Given the description of an element on the screen output the (x, y) to click on. 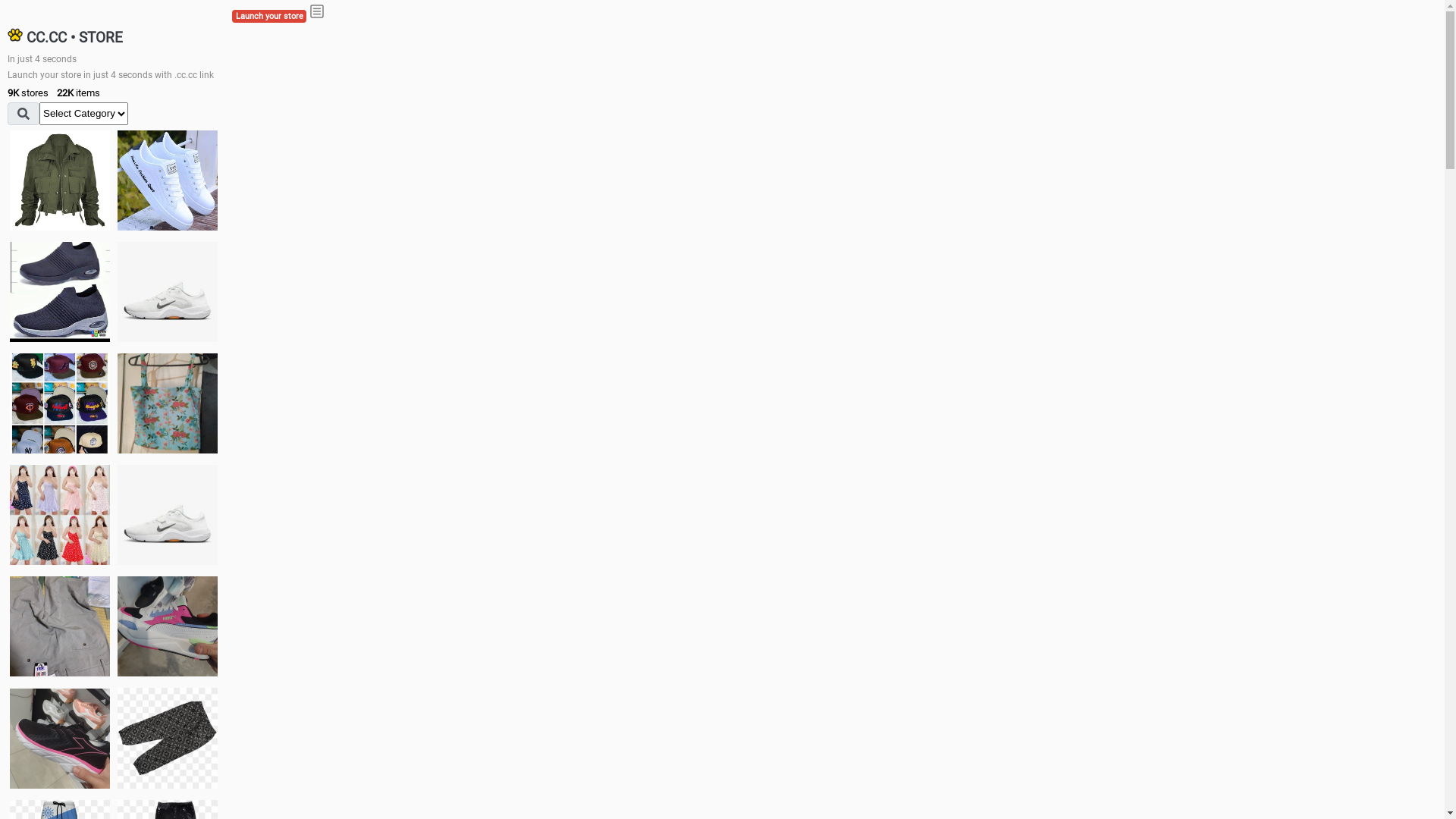
Shoes Element type: hover (167, 514)
Dress/square nect top Element type: hover (59, 514)
Shoes for boys Element type: hover (167, 291)
Things we need Element type: hover (59, 403)
jacket Element type: hover (59, 180)
Zapatillas Element type: hover (59, 738)
Zapatillas pumas Element type: hover (167, 626)
Short pant Element type: hover (167, 737)
white shoes Element type: hover (167, 180)
shoes for boys Element type: hover (59, 291)
Ukay cloth Element type: hover (167, 403)
Launch your store Element type: text (269, 15)
